Given the description of an element on the screen output the (x, y) to click on. 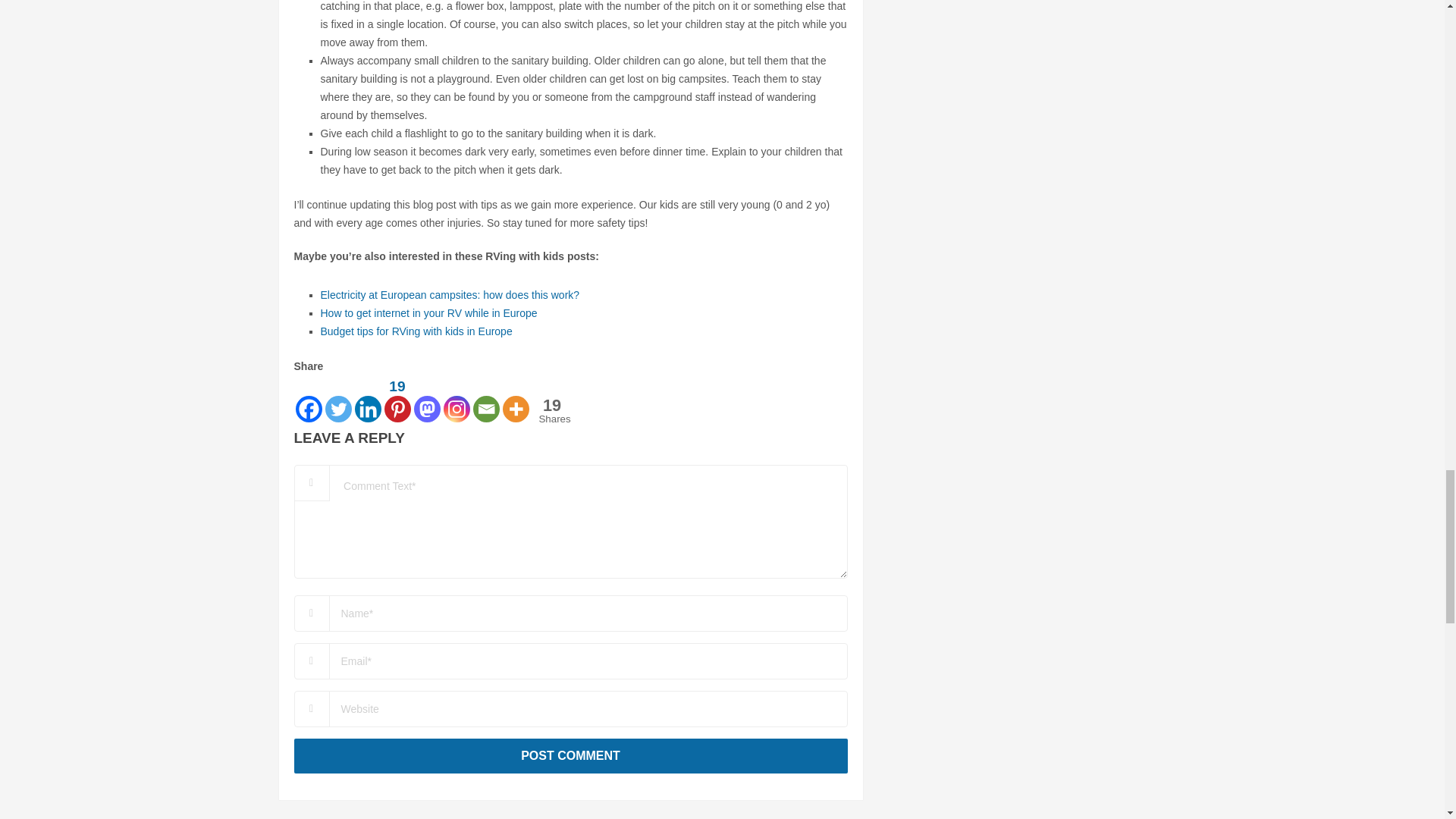
Budget tips for RVing with kids in Europe (416, 331)
Post Comment (570, 755)
Post Comment (570, 755)
How to get internet in your RV while in Europe (428, 313)
Electricity at European campsites: how does this work? (449, 295)
Total Shares (551, 410)
